Given the description of an element on the screen output the (x, y) to click on. 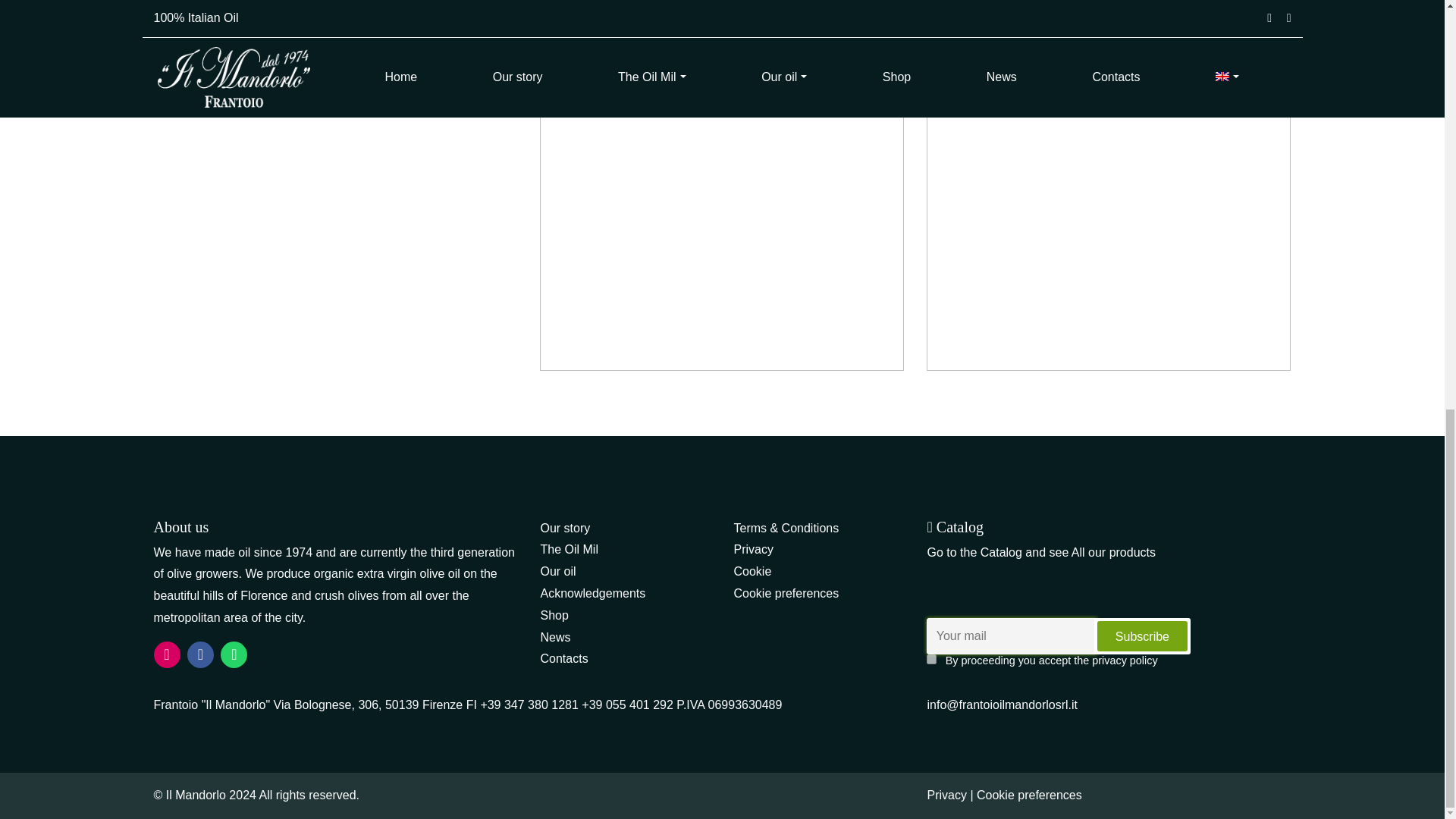
Our oil (557, 571)
on (931, 659)
Cookie (752, 571)
Contacts (564, 658)
Acknowledgements (592, 593)
Cookie preferences (785, 593)
Request more information (721, 44)
Subscribe (1142, 635)
Shop (553, 615)
Our story (564, 527)
